Given the description of an element on the screen output the (x, y) to click on. 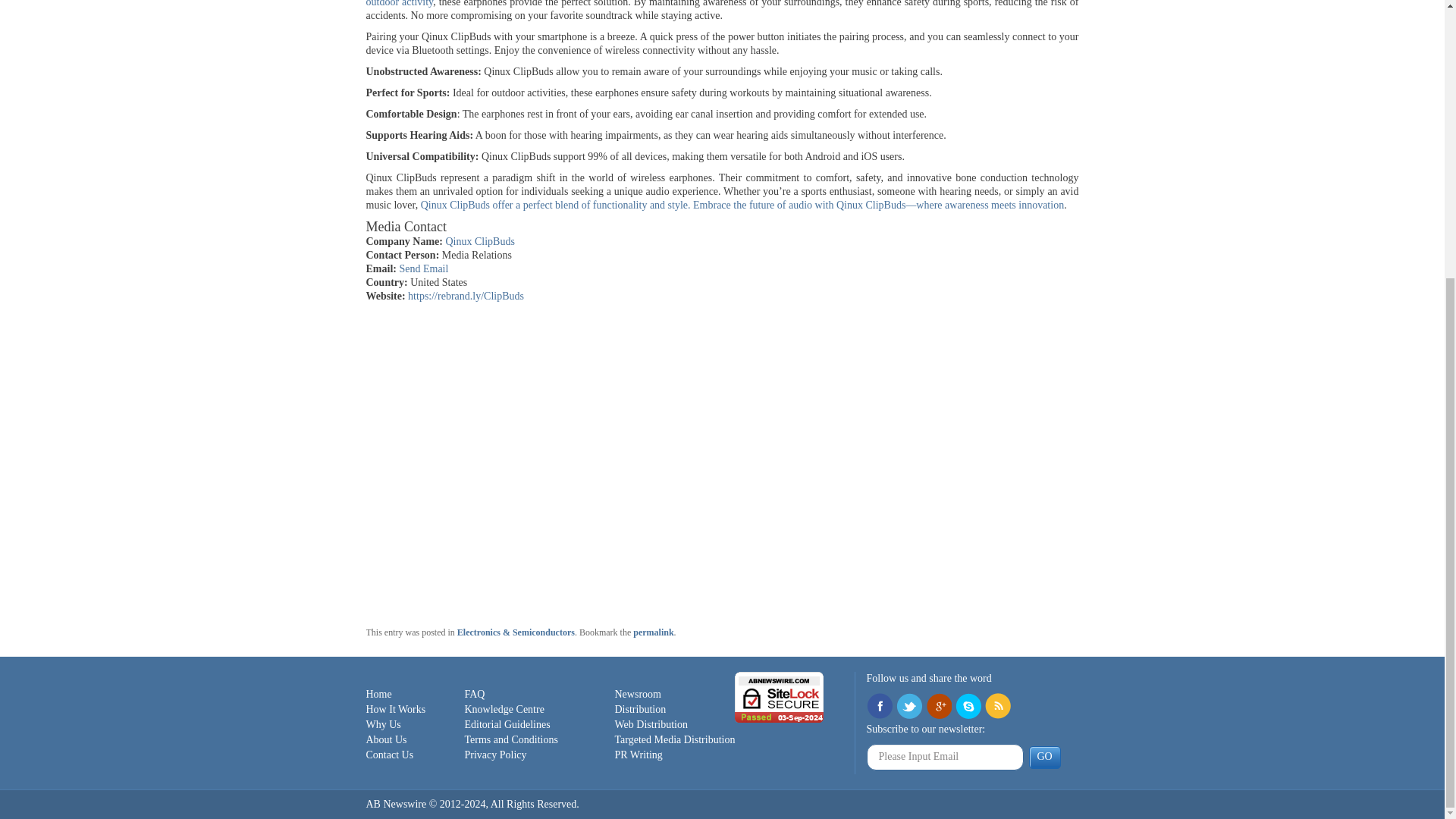
GO (1043, 757)
Please Input Email (944, 756)
SiteLock (779, 696)
